Given the description of an element on the screen output the (x, y) to click on. 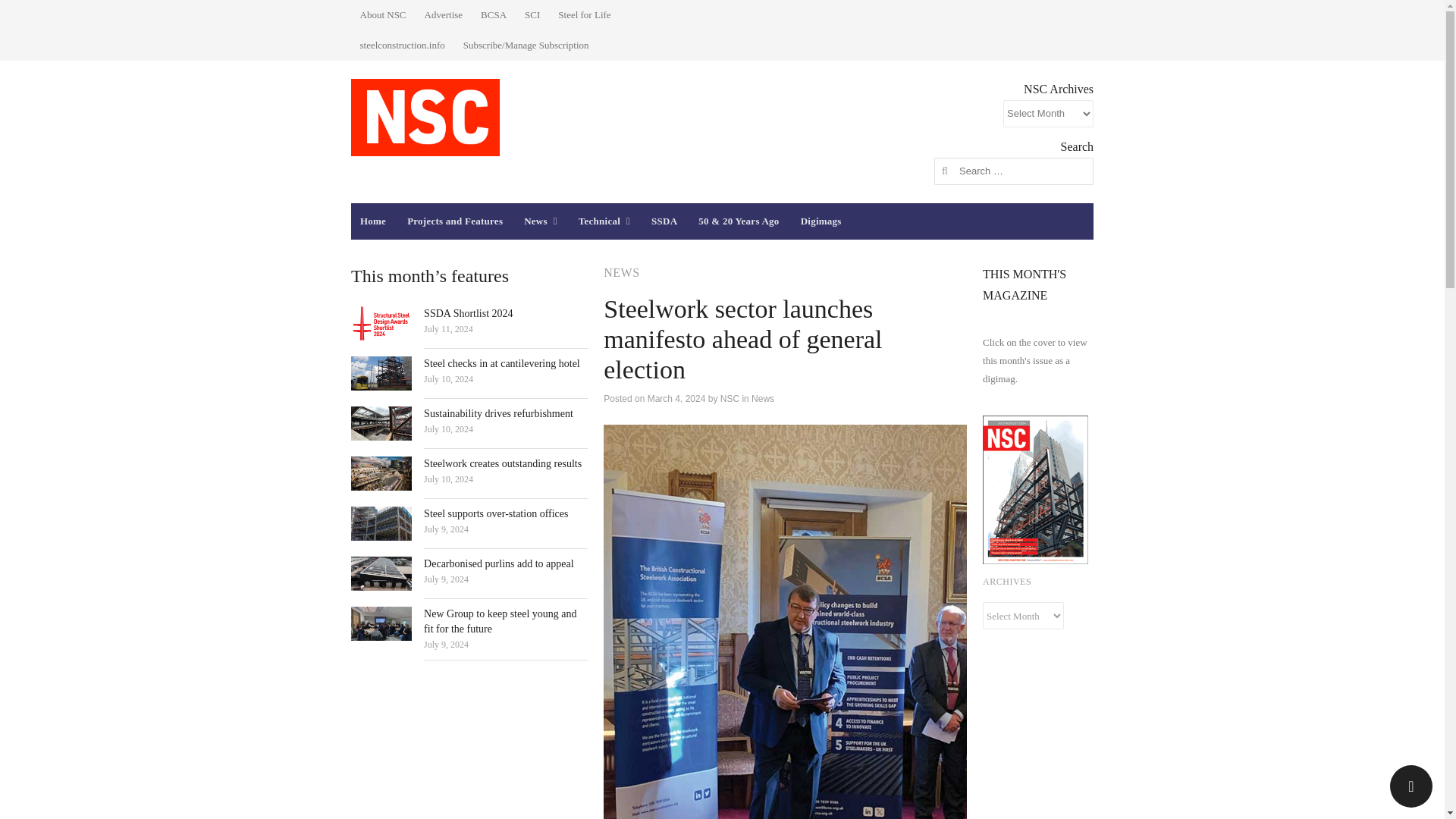
Steel for Life (584, 14)
SSDA Shortlist 2024 (467, 313)
Steelwork creates outstanding results (501, 463)
Sustainability drives refurbishment (498, 413)
News (540, 221)
2:41 pm (448, 378)
July 11, 2024 (448, 328)
Search (27, 13)
newsteelconstruction.com (424, 117)
steelconstruction.info (401, 45)
